Given the description of an element on the screen output the (x, y) to click on. 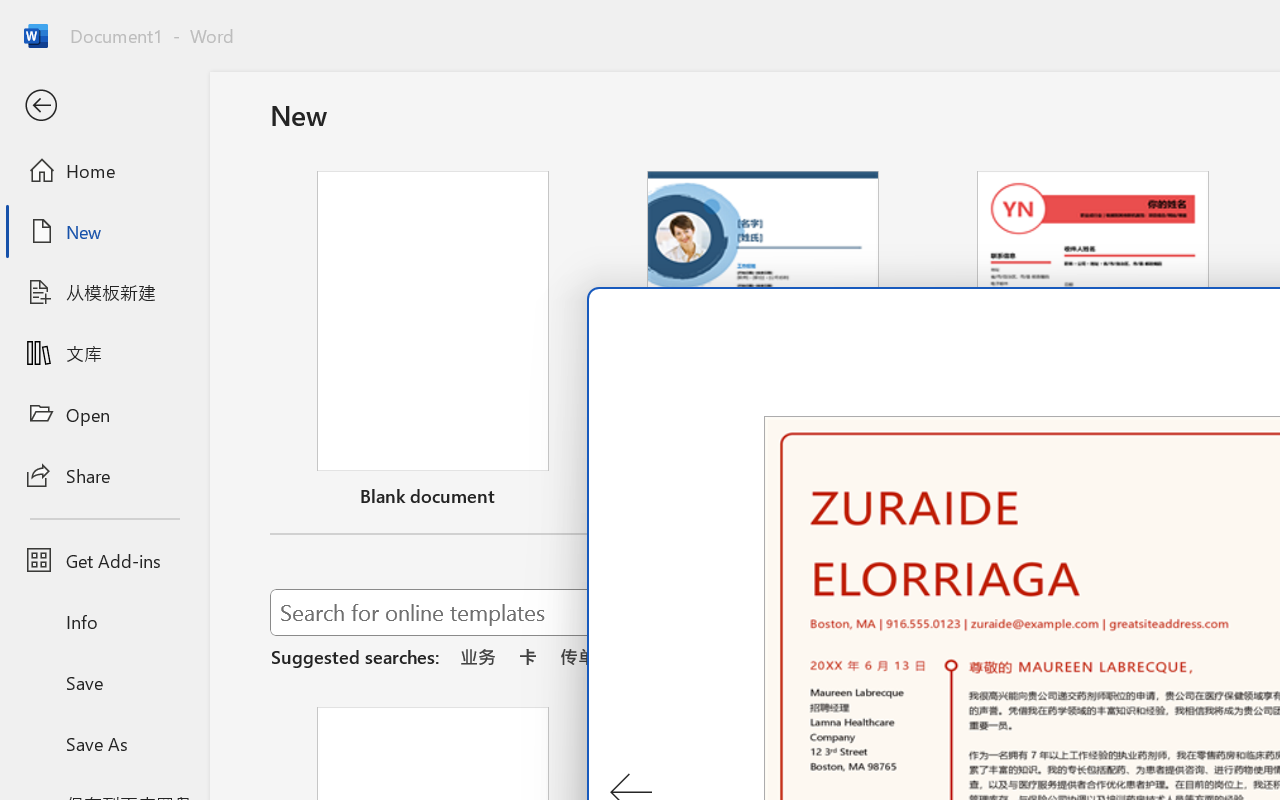
Save As (104, 743)
New (104, 231)
Get Add-ins (104, 560)
Info (104, 621)
Back (104, 106)
